Given the description of an element on the screen output the (x, y) to click on. 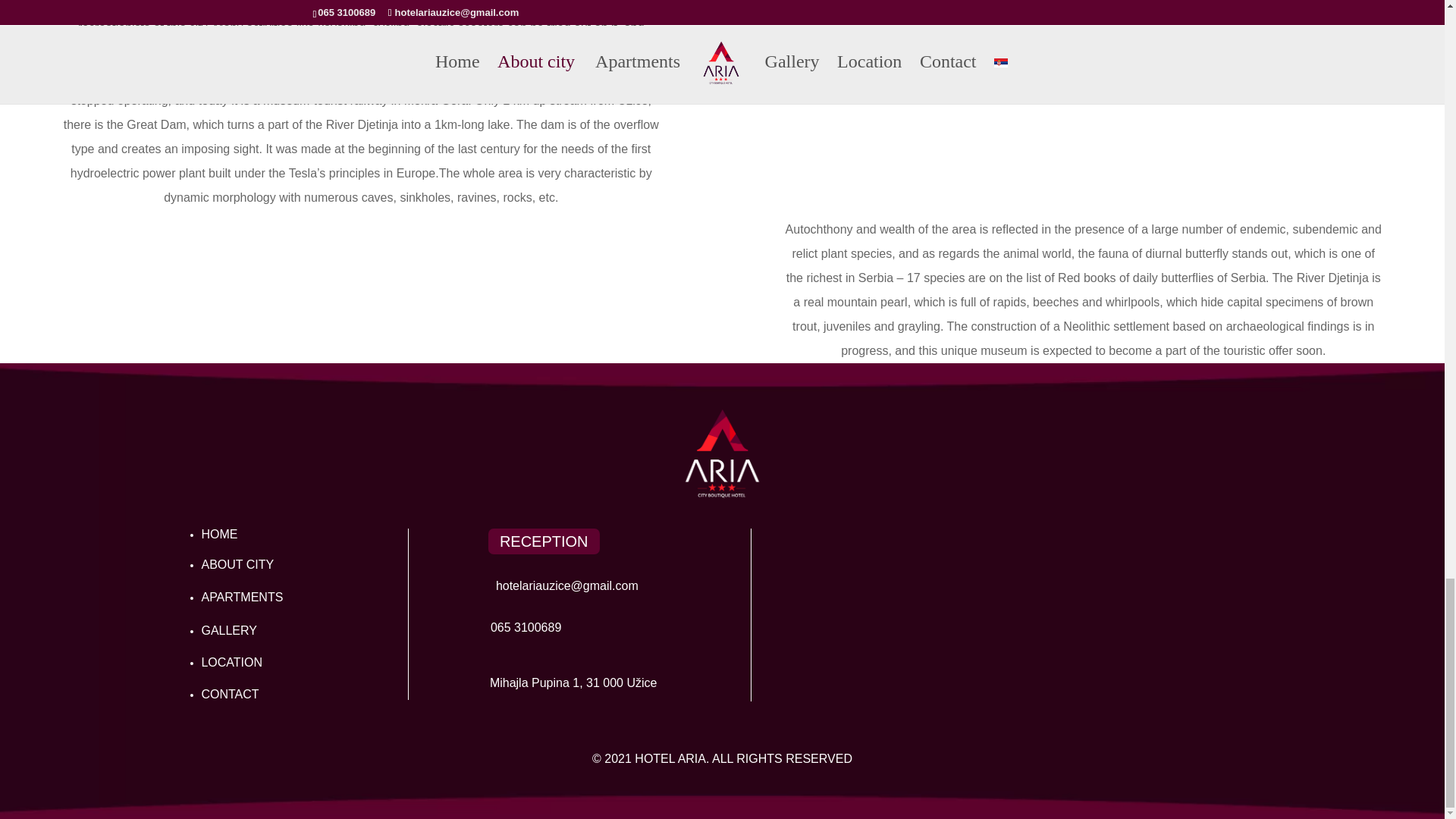
APARTMENTS (241, 596)
ABOUT CITY (236, 563)
CONTACT (229, 694)
HOME (218, 533)
GALLERY (228, 630)
RECEPTION (543, 541)
065 3100689 (525, 626)
LOCATION (231, 662)
